Given the description of an element on the screen output the (x, y) to click on. 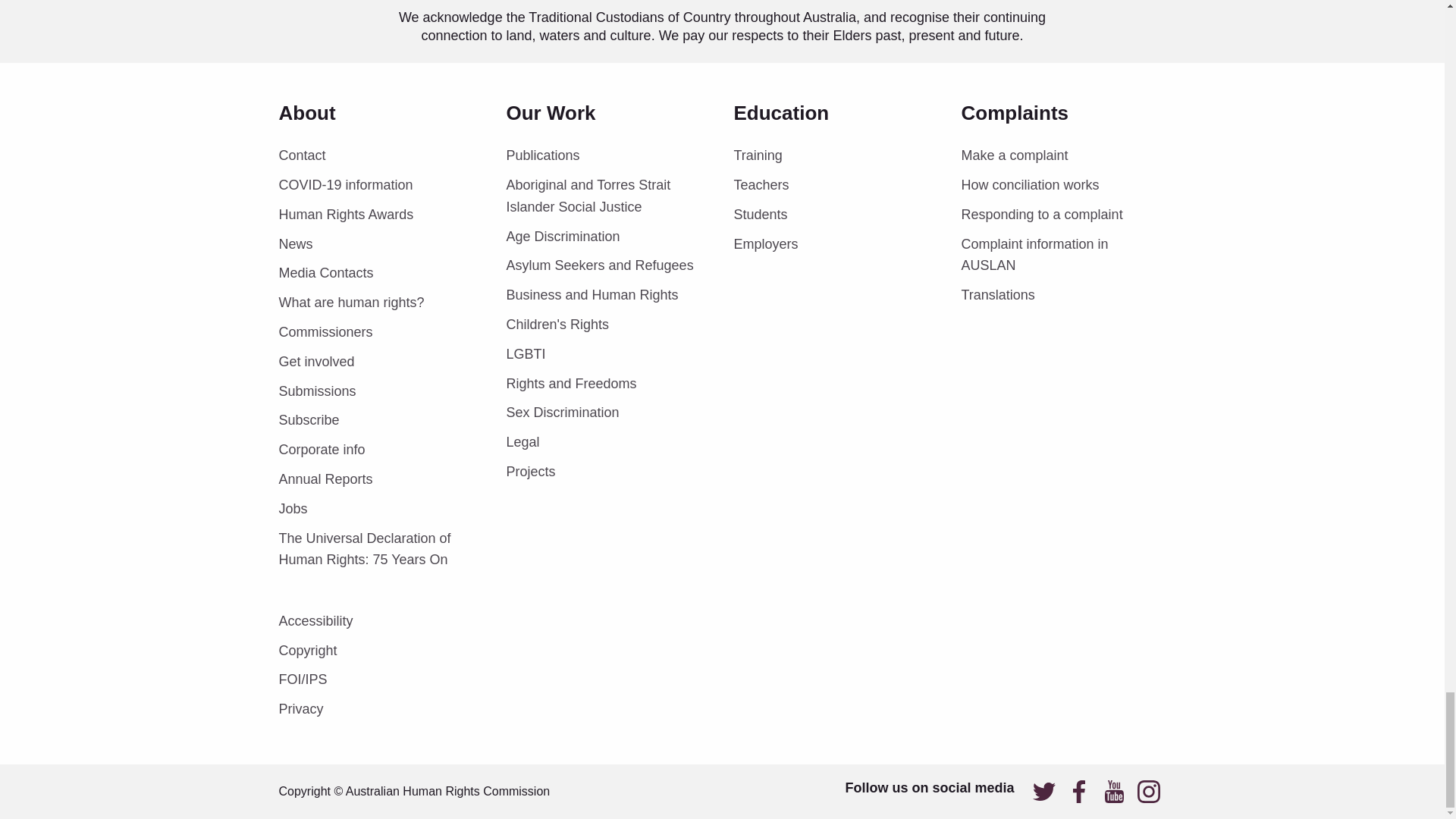
Online, in-person and custom training (836, 155)
